Given the description of an element on the screen output the (x, y) to click on. 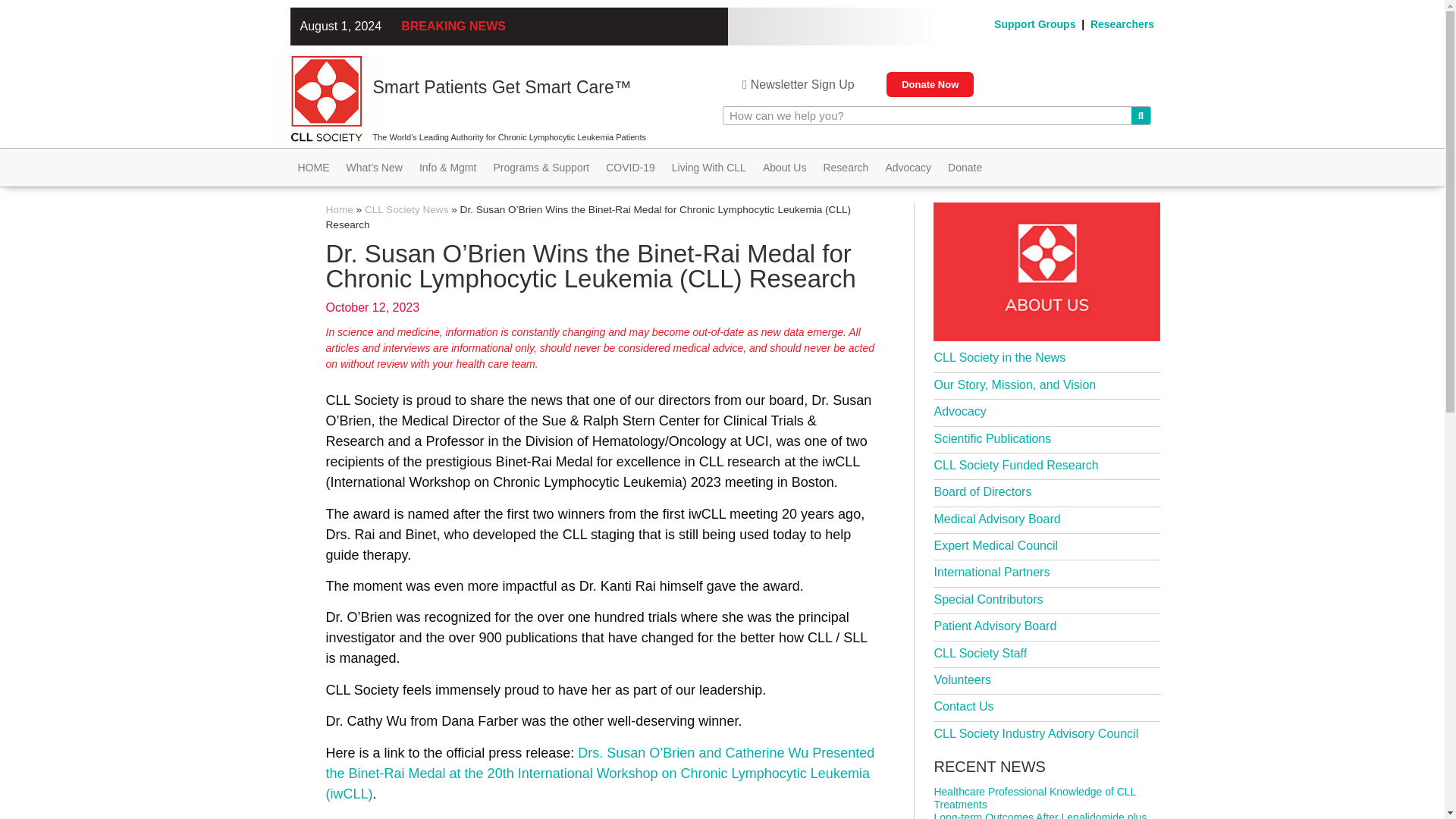
Donate Now (930, 84)
Support Groups (1034, 24)
Researchers (1122, 24)
Newsletter Sign Up (797, 84)
HOME (313, 167)
